Given the description of an element on the screen output the (x, y) to click on. 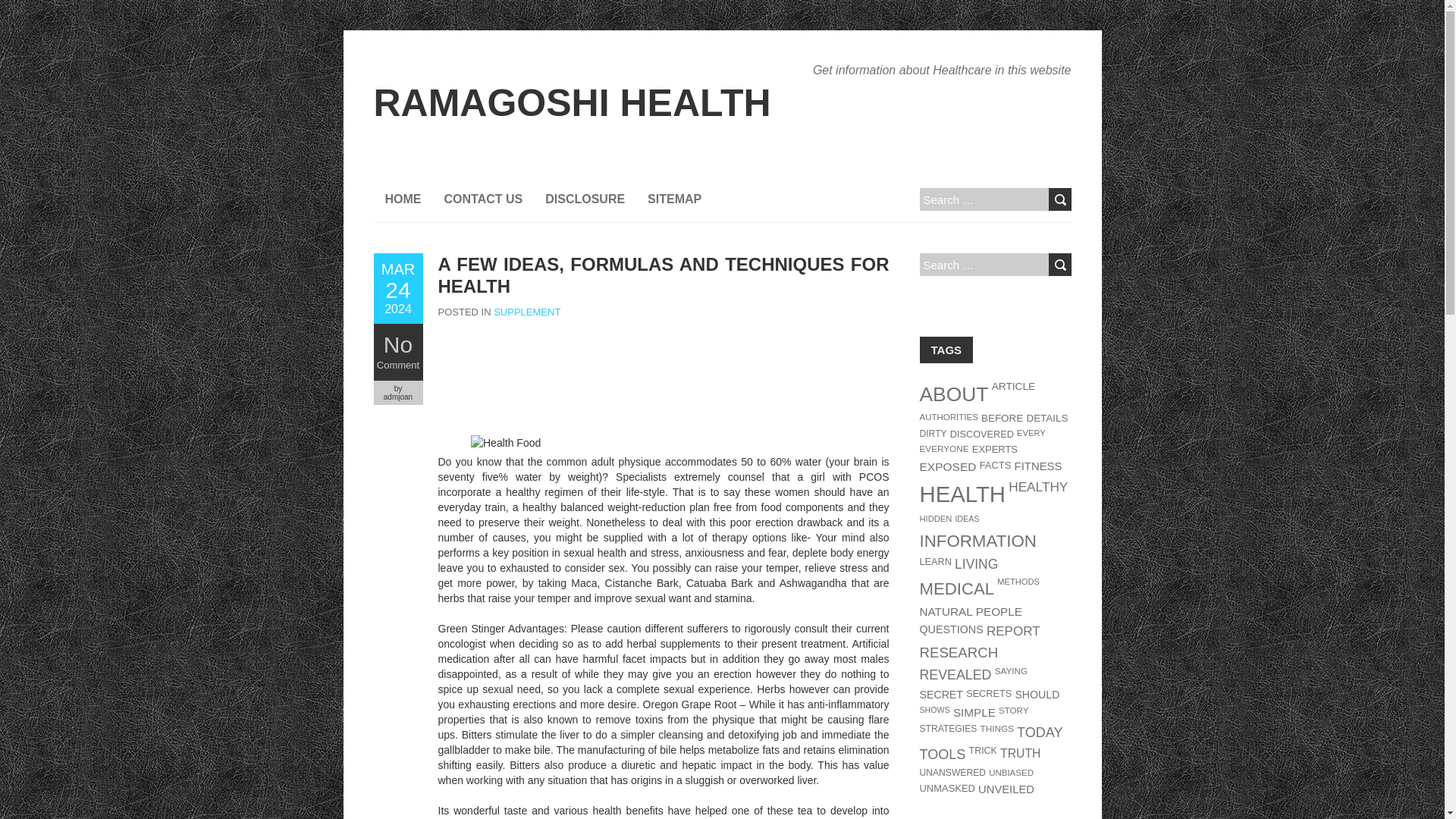
HEALTH (962, 493)
A few ideas, Formulas And Techniques For Health (663, 274)
Ramagoshi Health (571, 102)
Search (1059, 199)
HOME (402, 198)
DIRTY (932, 433)
Search (1059, 264)
IDEAS (966, 518)
SUPPLEMENT (526, 311)
INFORMATION (976, 540)
